Given the description of an element on the screen output the (x, y) to click on. 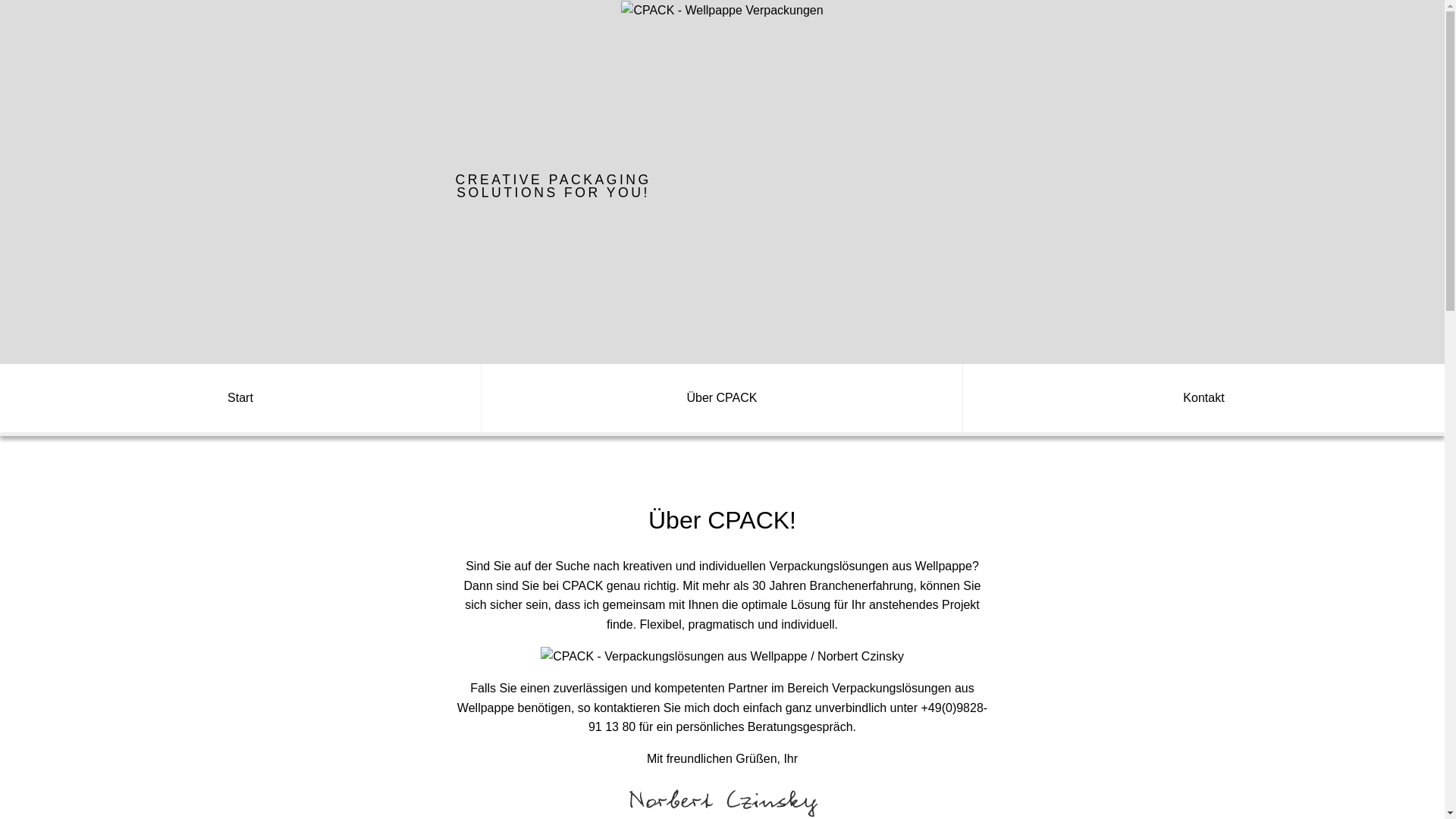
Start Element type: text (240, 400)
Kontakt Element type: text (1203, 400)
